Given the description of an element on the screen output the (x, y) to click on. 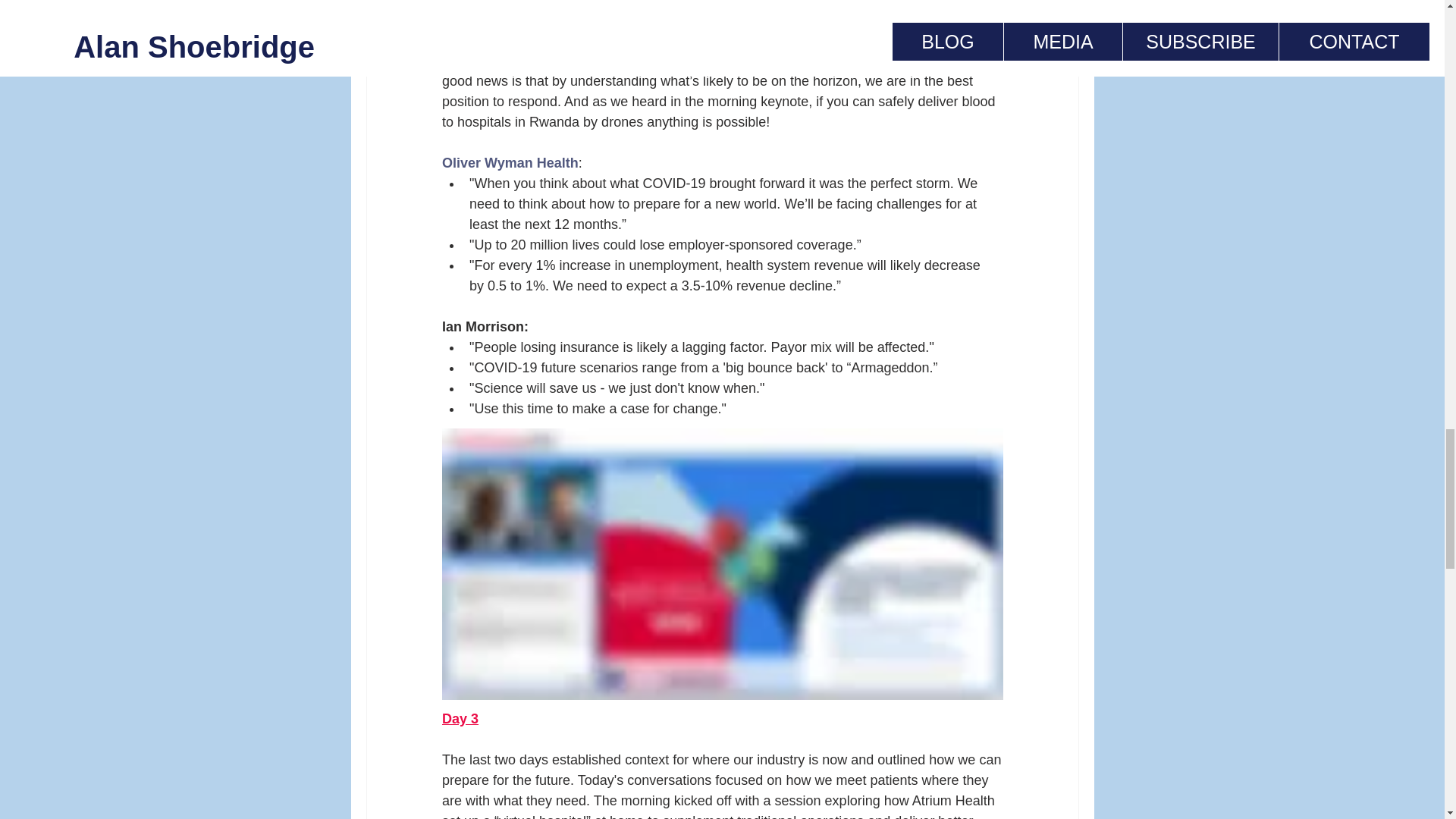
Oliver Wyman Health (509, 162)
